Given the description of an element on the screen output the (x, y) to click on. 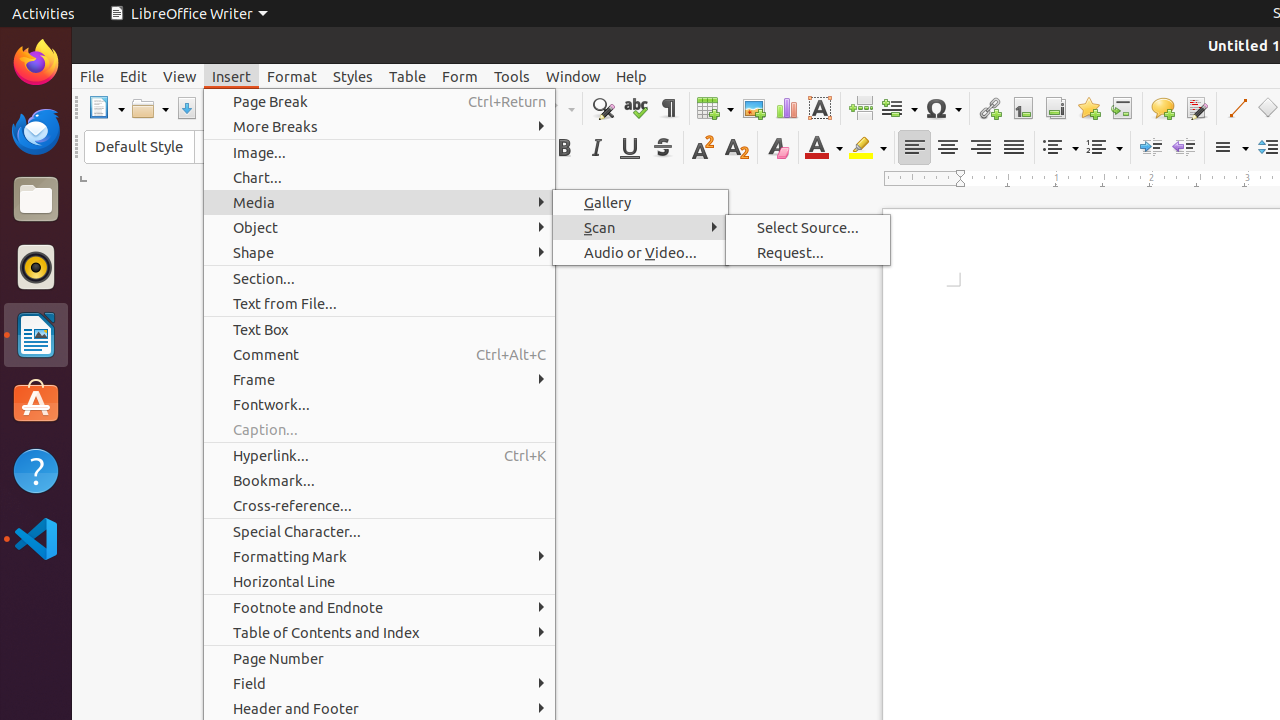
Line Element type: toggle-button (1236, 108)
Subscript Element type: toggle-button (736, 147)
Bullets Element type: push-button (1060, 147)
Request... Element type: menu-item (808, 252)
Tools Element type: menu (512, 76)
